Given the description of an element on the screen output the (x, y) to click on. 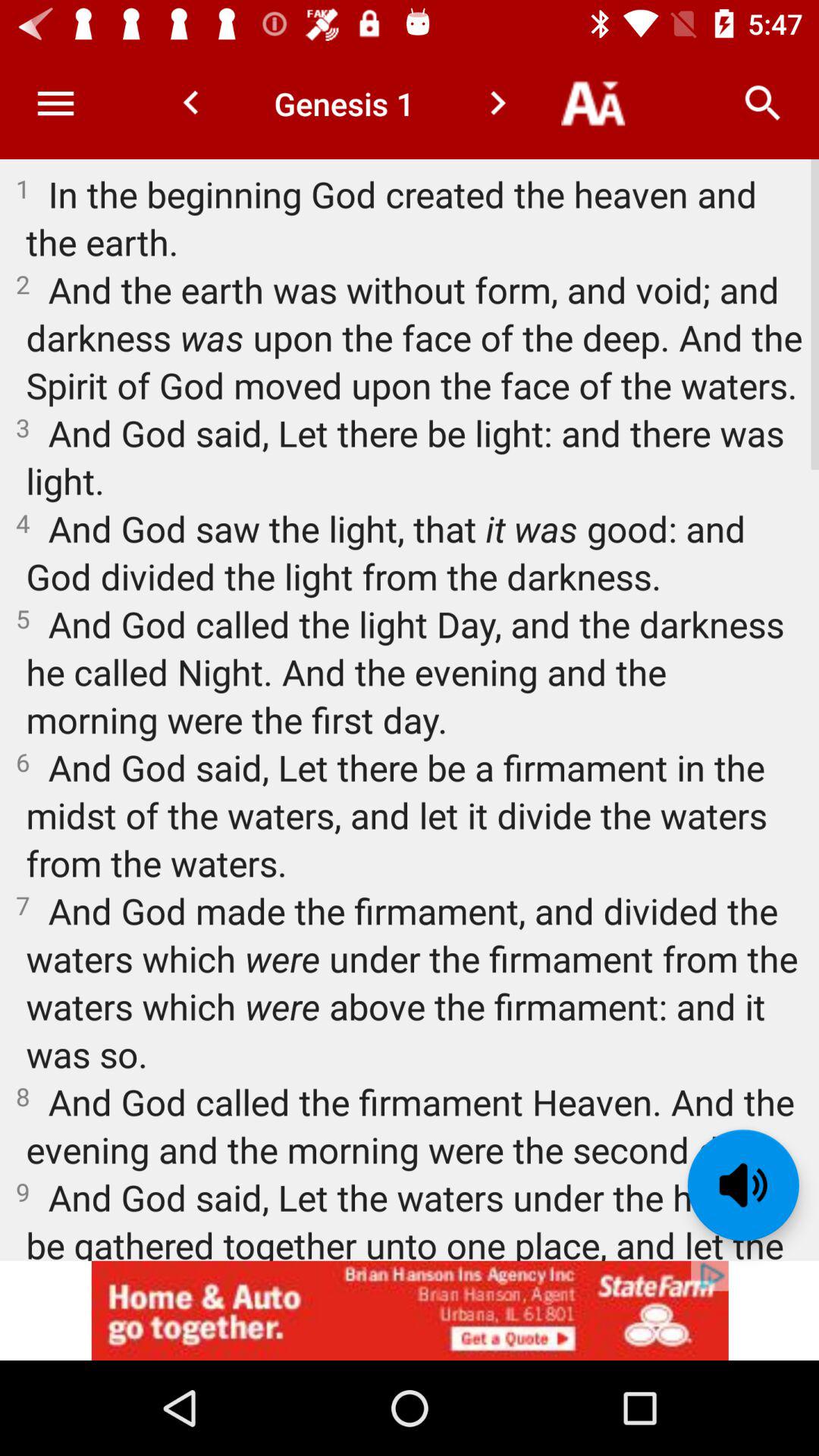
read text aloud (743, 1185)
